Given the description of an element on the screen output the (x, y) to click on. 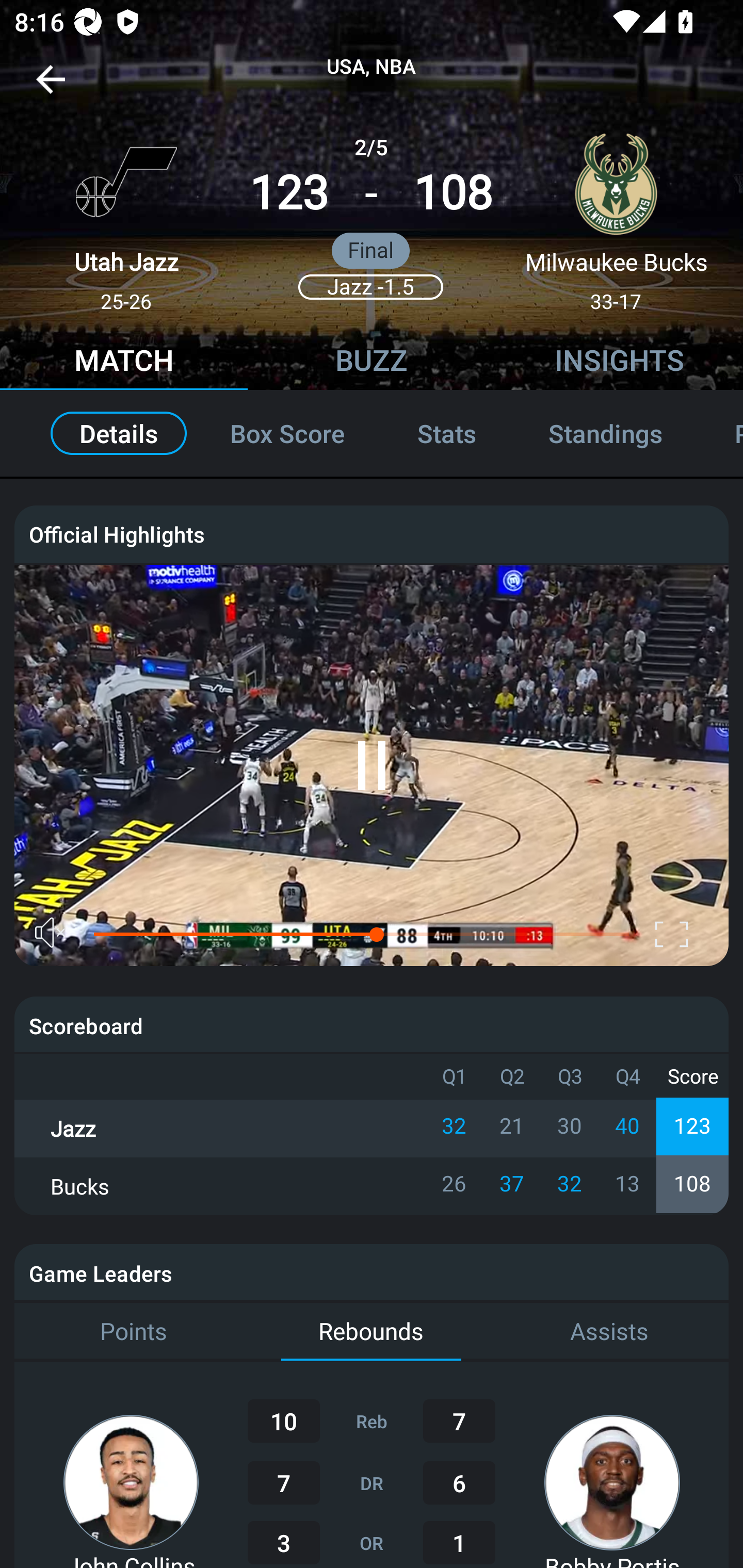
Navigate up (50, 86)
USA, NBA (371, 66)
Utah Jazz 25-26 (126, 214)
Milwaukee Bucks 33-17 (616, 214)
123 (288, 192)
108 (453, 192)
MATCH (123, 362)
BUZZ (371, 362)
INSIGHTS (619, 362)
Box Score (287, 433)
Stats (446, 433)
Standings (605, 433)
Official Highlights (371, 533)
Points (133, 1332)
Assists (609, 1332)
